Given the description of an element on the screen output the (x, y) to click on. 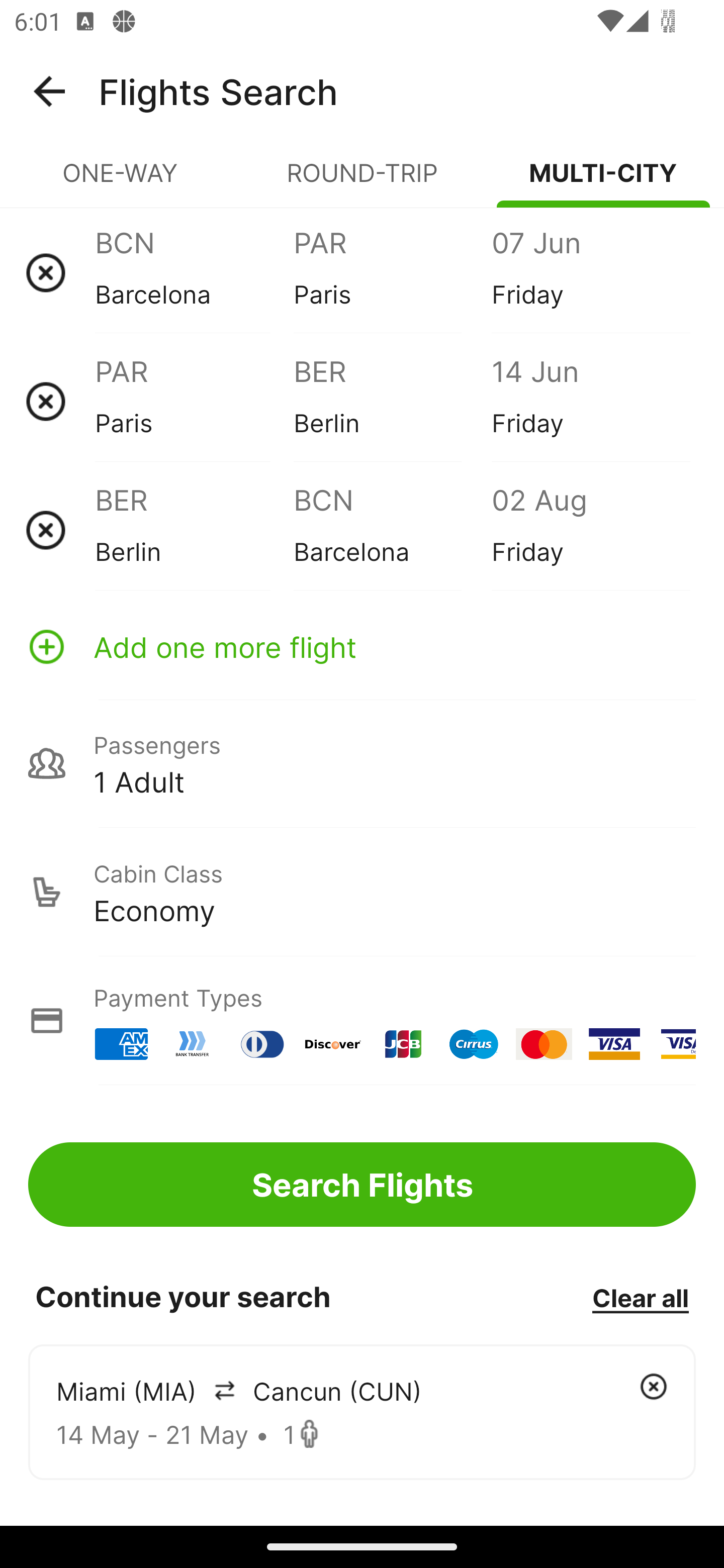
ONE-WAY (120, 180)
ROUND-TRIP (361, 180)
MULTI-CITY (603, 180)
BCN Barcelona (193, 272)
PAR Paris (392, 272)
07 Jun Friday (590, 272)
PAR Paris (193, 401)
BER Berlin (392, 401)
14 Jun Friday (590, 401)
BER Berlin (193, 529)
BCN Barcelona (392, 529)
02 Aug Friday (590, 529)
Add one more flight (362, 646)
Passengers 1 Adult (362, 762)
Cabin Class Economy (362, 891)
Payment Types (362, 1020)
Search Flights (361, 1184)
Clear all (640, 1297)
